Given the description of an element on the screen output the (x, y) to click on. 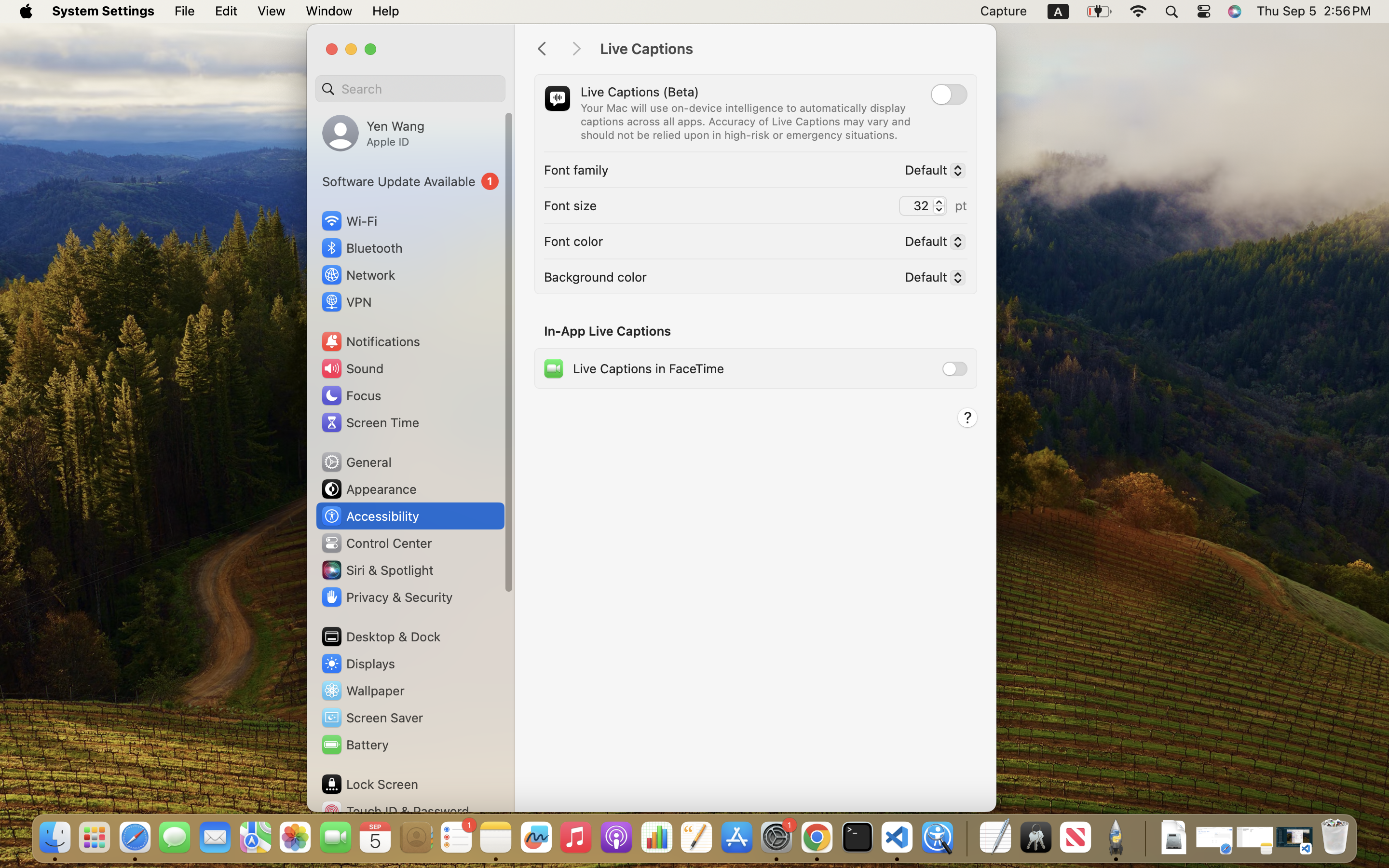
Live Captions in FaceTime Element type: AXStaticText (633, 367)
Yen Wang, Apple ID Element type: AXStaticText (373, 132)
0.4285714328289032 Element type: AXDockItem (965, 837)
32.0 Element type: AXIncrementor (938, 205)
Wi‑Fi Element type: AXStaticText (348, 220)
